Given the description of an element on the screen output the (x, y) to click on. 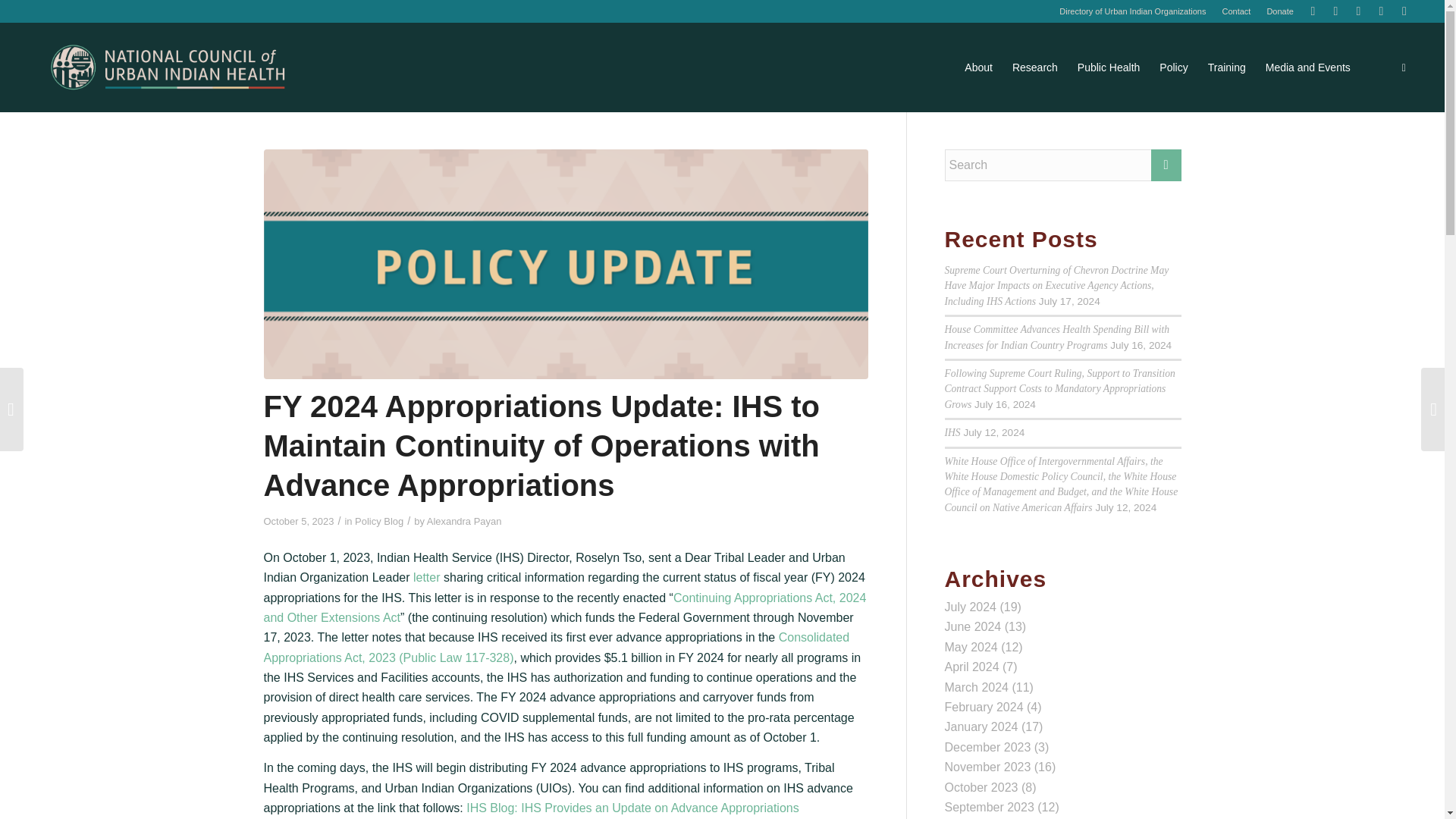
Youtube (1359, 11)
Public Health (1108, 67)
Research (1035, 67)
About (979, 67)
Twitter (1312, 11)
Policy (1173, 67)
Posts by Alexandra Payan (464, 521)
Instagram (1380, 11)
Contact (1235, 11)
LinkedIn (1404, 11)
Directory of Urban Indian Organizations (1132, 11)
Facebook (1335, 11)
Donate (1279, 11)
